Given the description of an element on the screen output the (x, y) to click on. 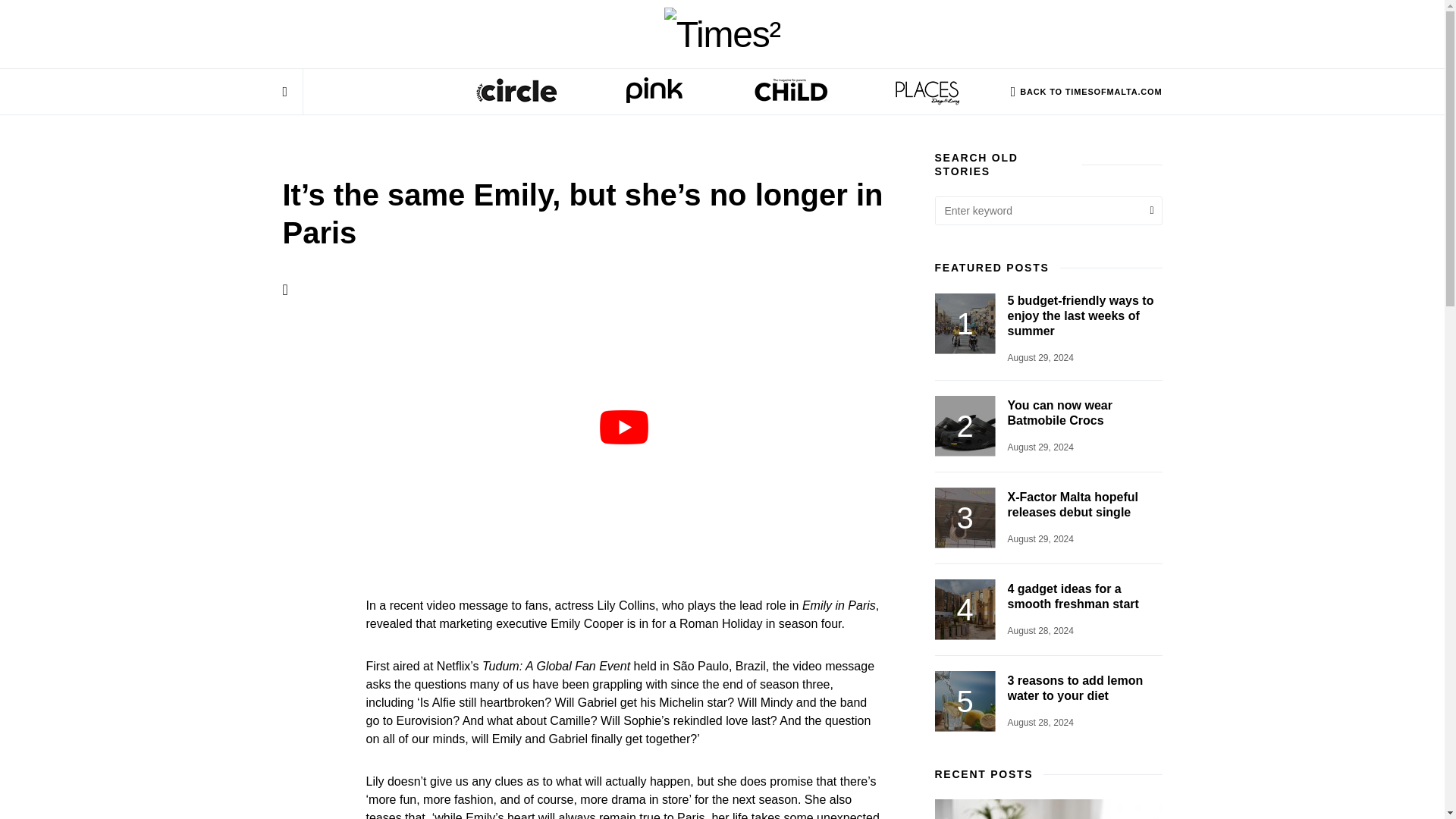
PINK (653, 97)
CHILD (789, 97)
PLACES (926, 97)
BACK TO TIMESOFMALTA.COM (1085, 91)
SUNDAY CIRCLE (517, 97)
